Given the description of an element on the screen output the (x, y) to click on. 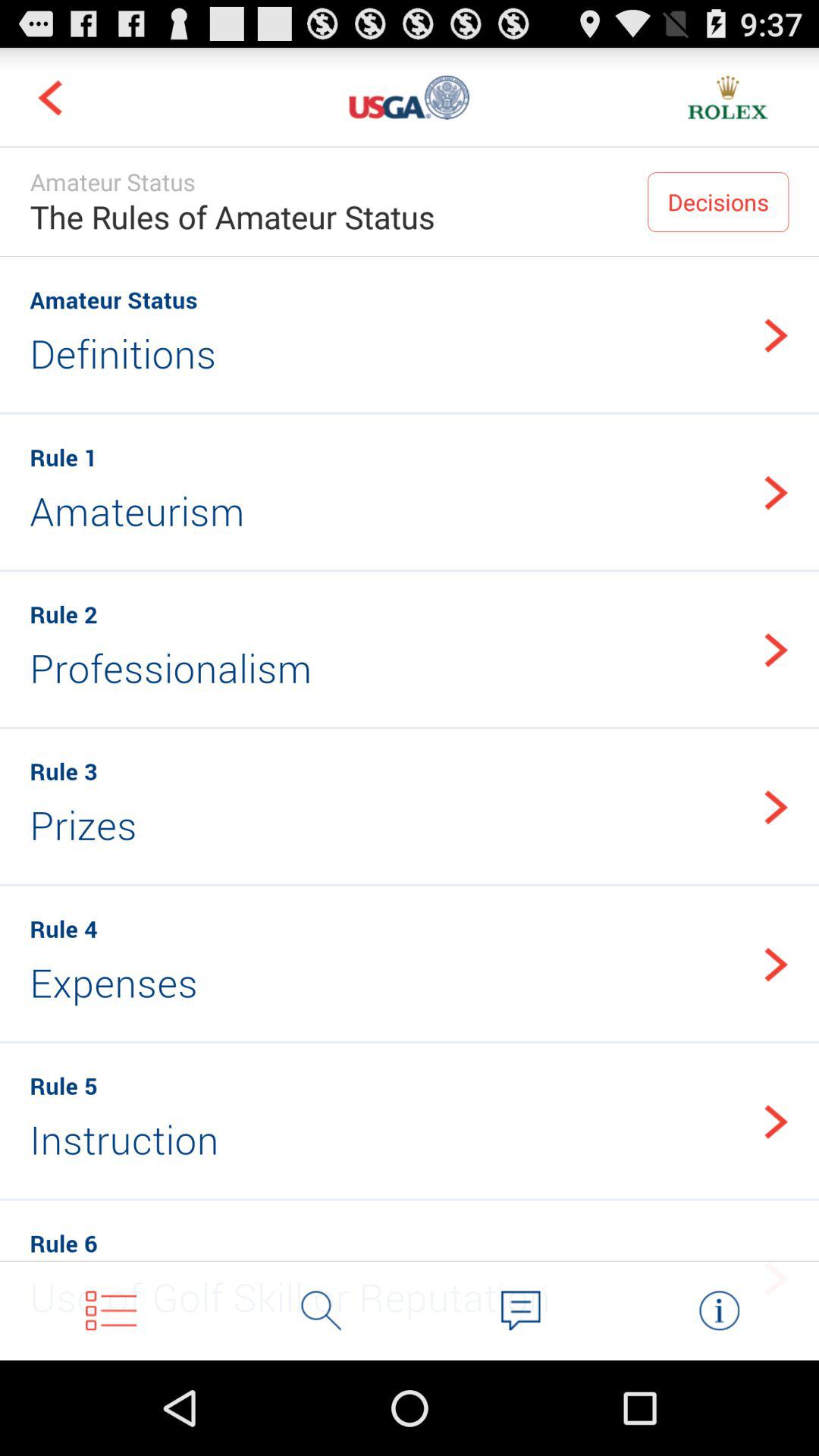
messages (519, 1310)
